Given the description of an element on the screen output the (x, y) to click on. 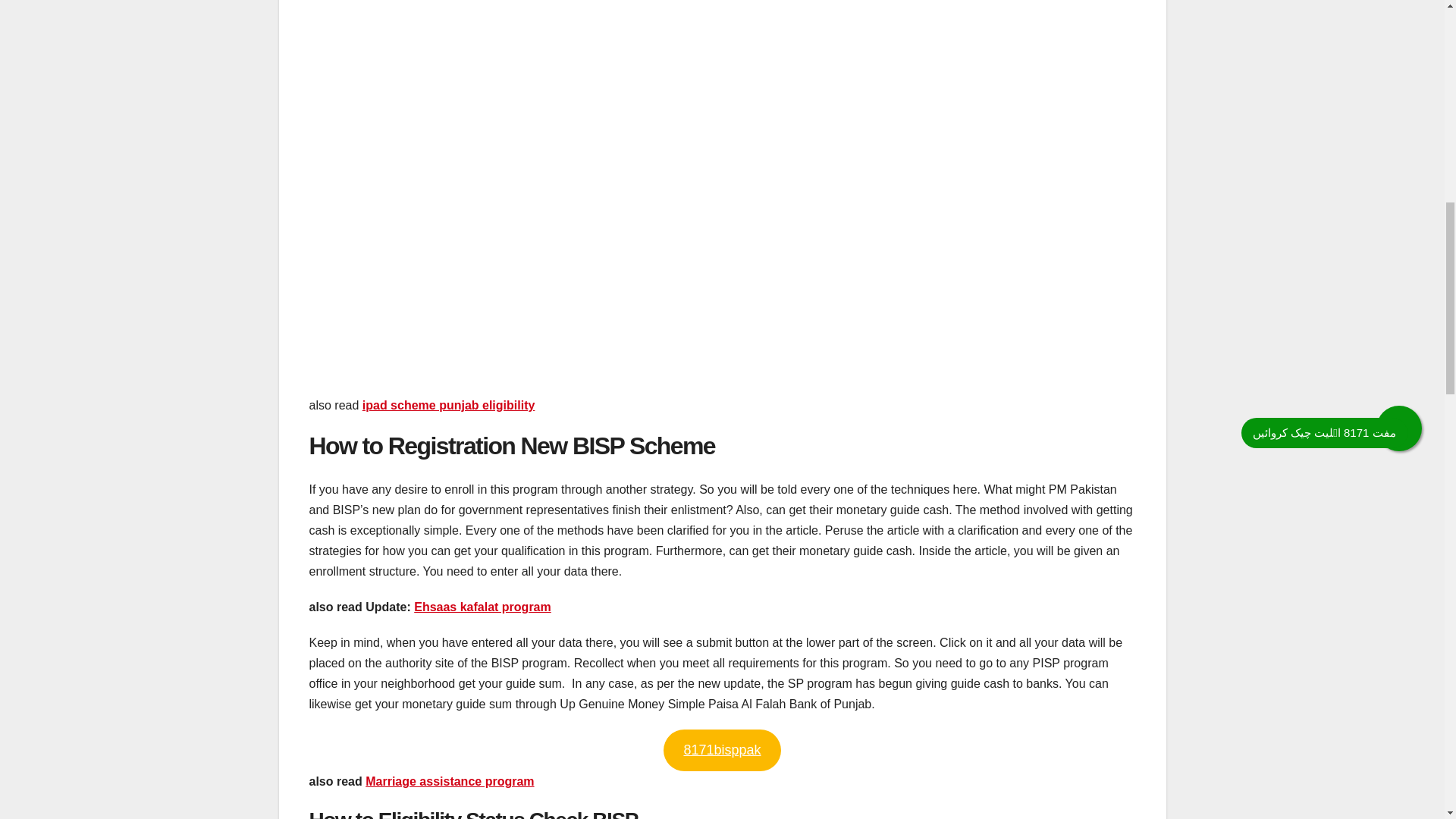
8171bisppak (721, 750)
Ehsaas kafalat program (482, 606)
Marriage assistance program (449, 780)
ipad scheme punjab eligibility (448, 404)
